Given the description of an element on the screen output the (x, y) to click on. 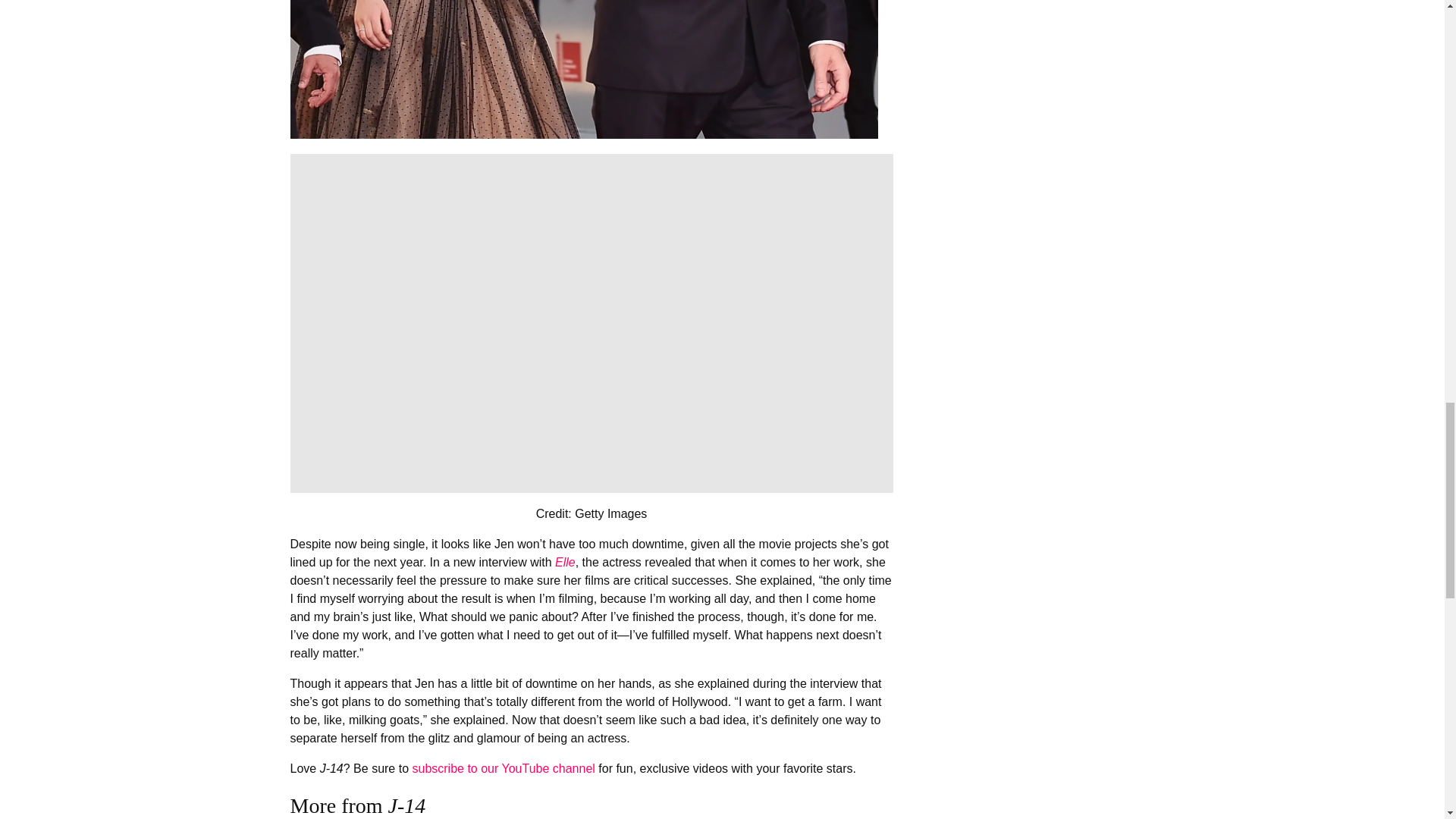
jennifer lawrence darren aronofsky getty images (583, 69)
Elle (564, 562)
subscribe to our YouTube channel (503, 768)
